Given the description of an element on the screen output the (x, y) to click on. 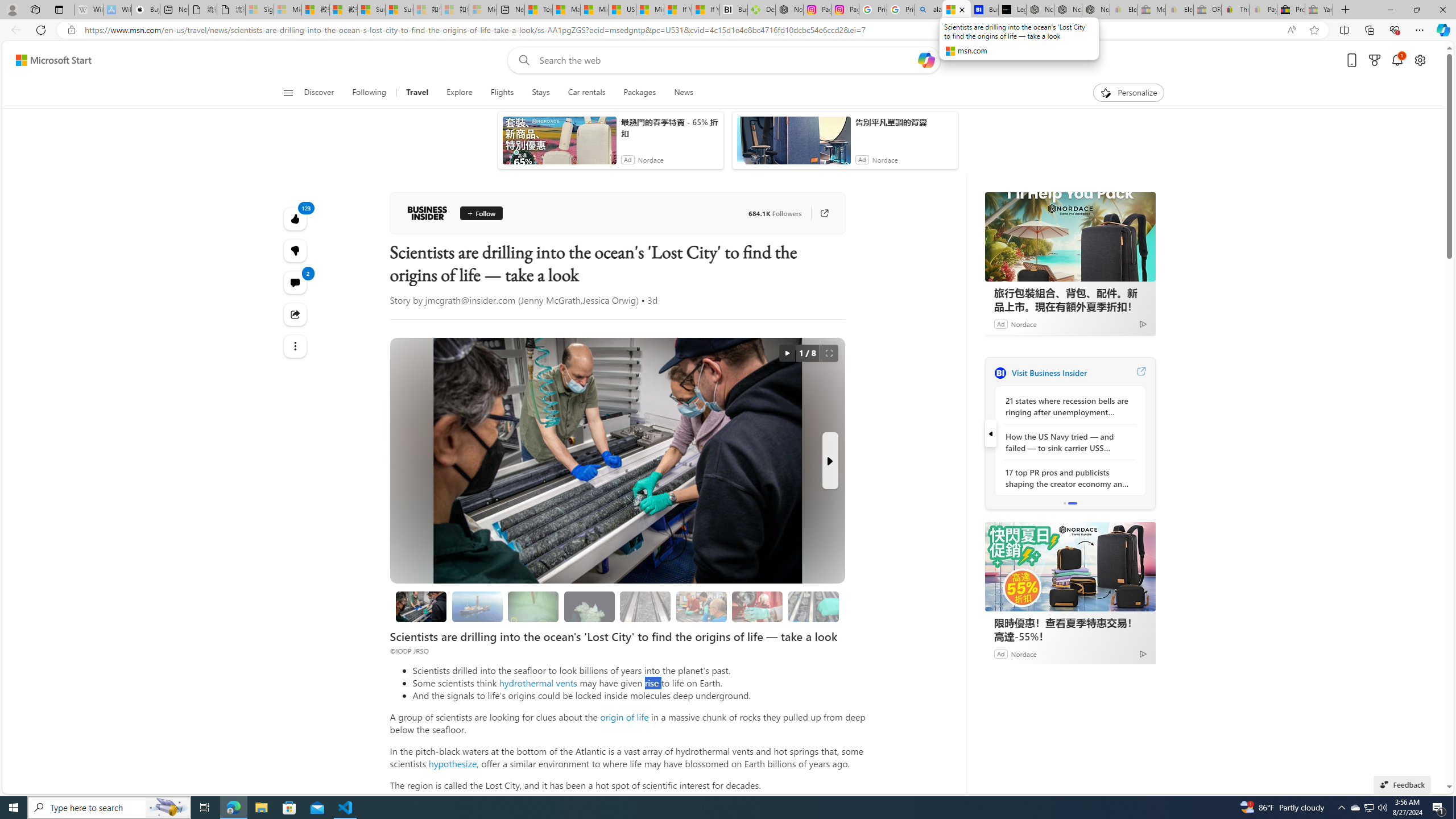
Business Insider (427, 213)
Packages (639, 92)
autorotate button (786, 352)
Payments Terms of Use | eBay.com - Sleeping (1262, 9)
Full screen (828, 352)
Share this story (295, 314)
alabama high school quarterback dies - Search (928, 9)
